Given the description of an element on the screen output the (x, y) to click on. 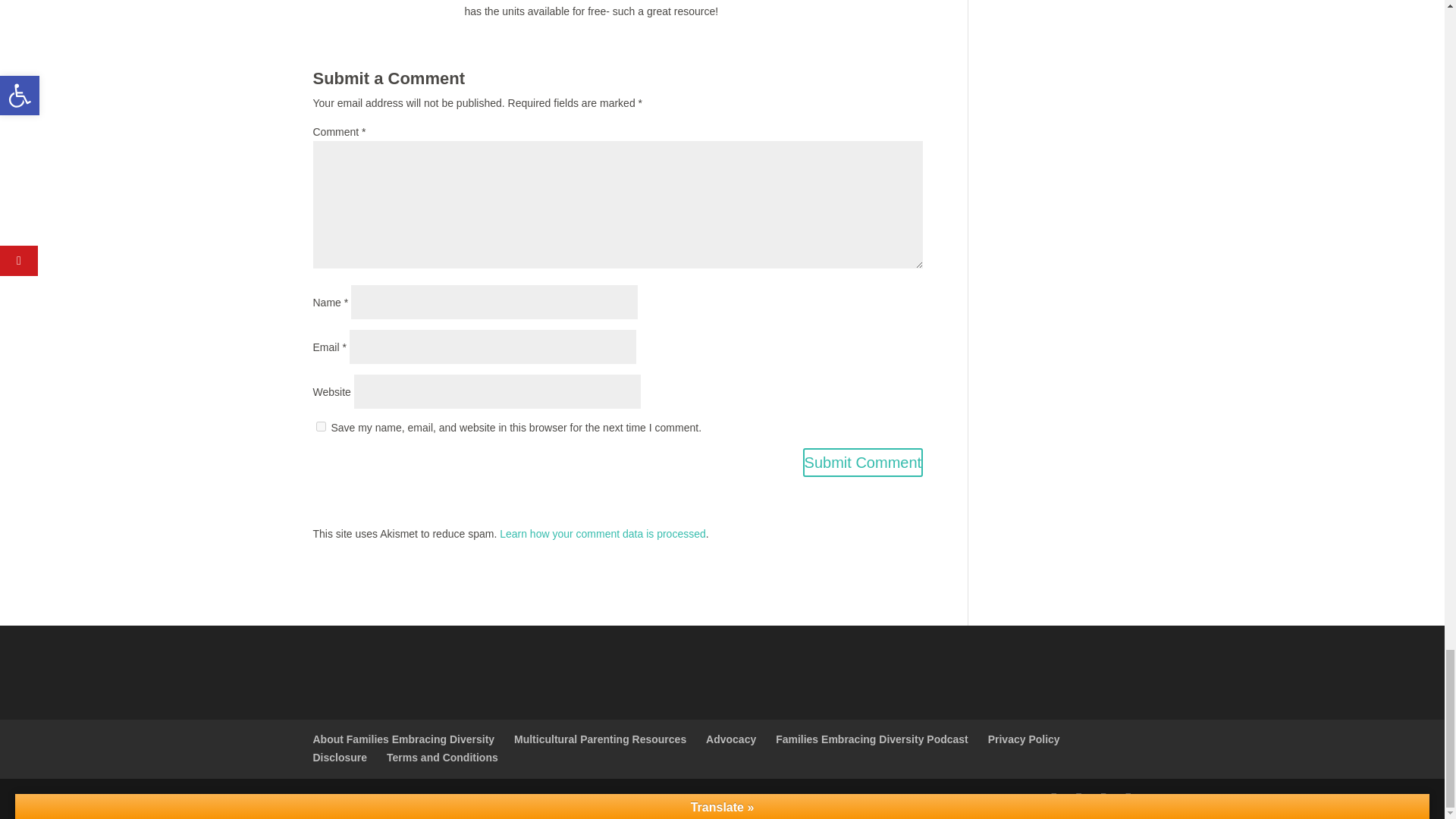
Terms and Conditions (442, 757)
Submit Comment (863, 461)
Learn how your comment data is processed (602, 533)
yes (319, 426)
Submit Comment (863, 461)
Premium WordPress Themes (414, 798)
Privacy Policy (1023, 739)
Families Embracing Diversity Podcast (872, 739)
Disclosure (339, 757)
Multicultural Parenting Resources (599, 739)
Advocacy (730, 739)
About Families Embracing Diversity (404, 739)
